Given the description of an element on the screen output the (x, y) to click on. 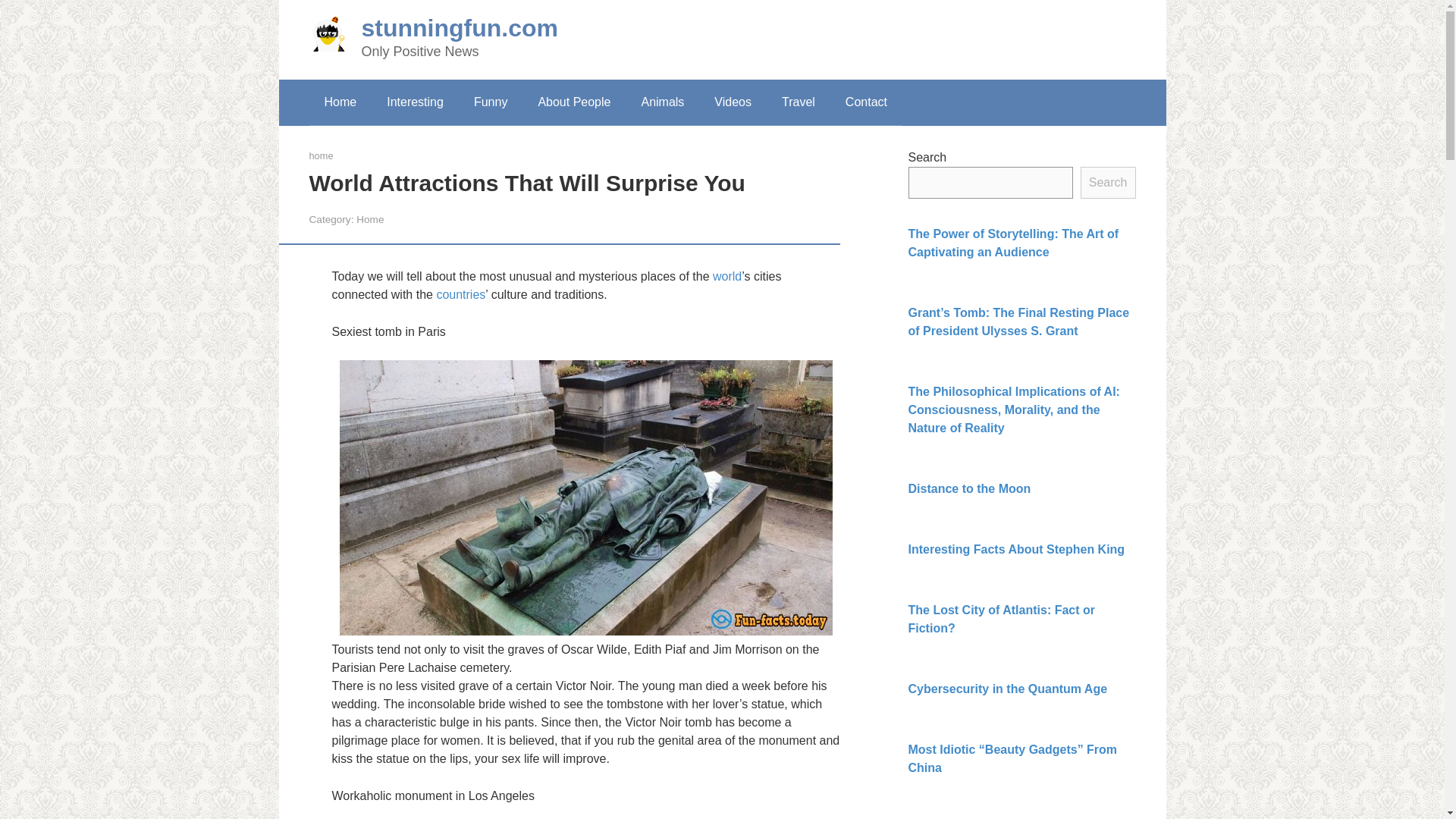
Travel (798, 102)
stunningfun.com (459, 27)
home (320, 155)
Home (340, 102)
Videos (732, 102)
Animals (662, 102)
Home (370, 219)
Wonders of the World: A Guide to the Most Beautiful Places (727, 276)
countries (459, 294)
